Given the description of an element on the screen output the (x, y) to click on. 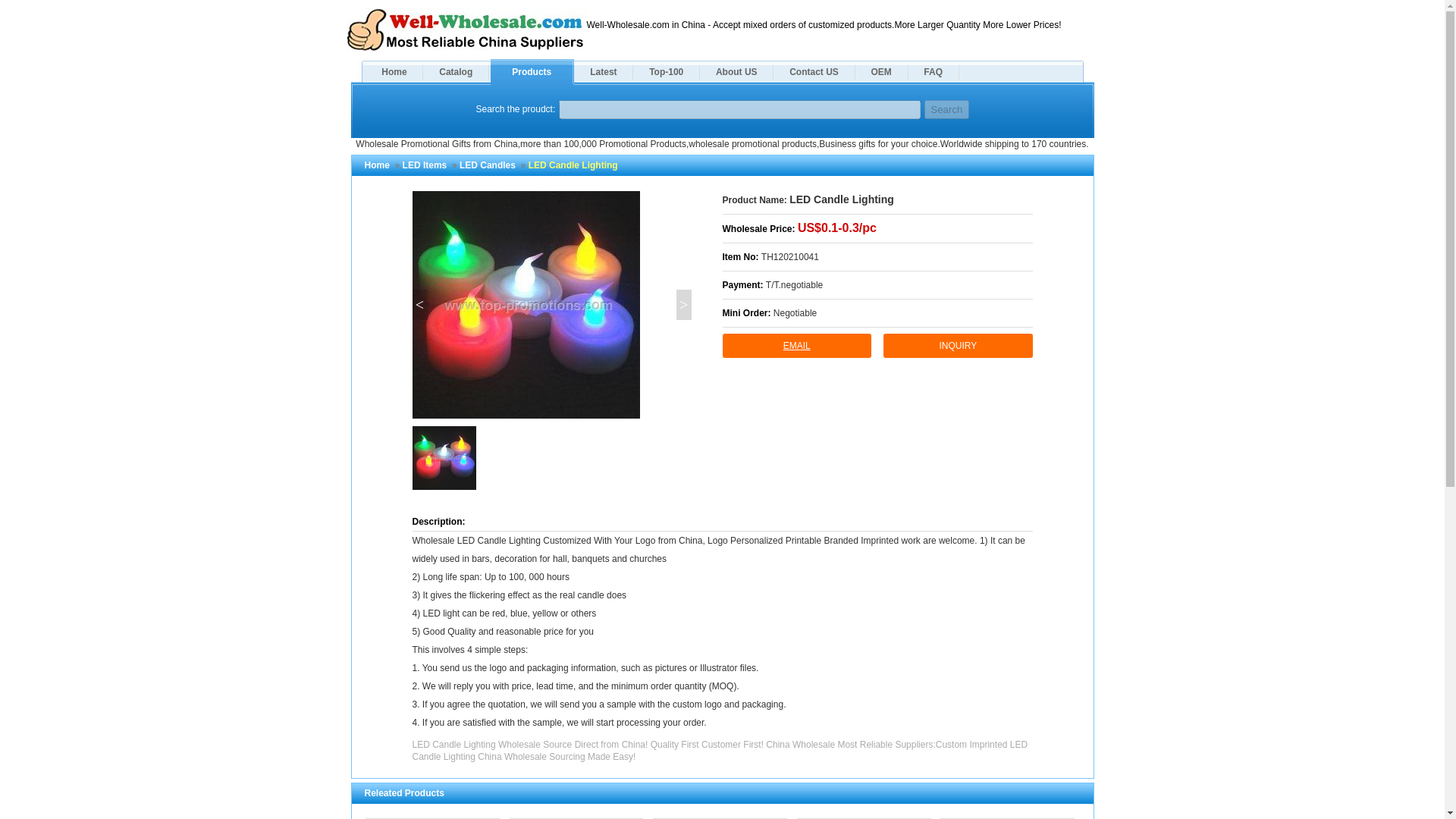
Home (376, 164)
Contact US (812, 71)
Products (531, 71)
Latest (602, 71)
LED Items (424, 164)
LED Candles (487, 164)
Search (946, 108)
FAQ (933, 71)
Home (393, 71)
About US (736, 71)
